Given the description of an element on the screen output the (x, y) to click on. 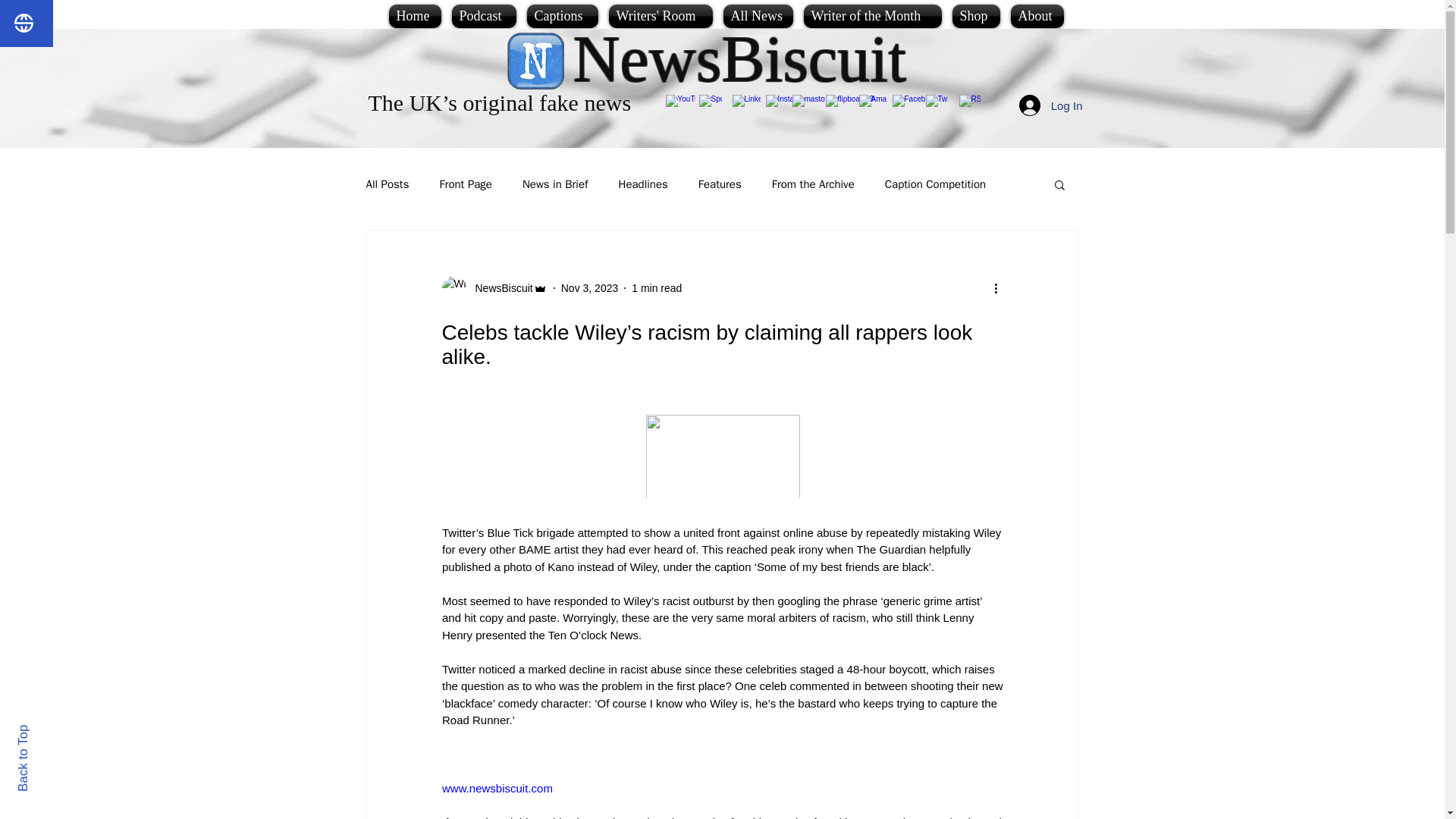
Shop (975, 15)
1 min read (656, 287)
All News (757, 15)
Front Page (465, 184)
News in Brief (555, 184)
Log In (1051, 105)
NewsBiscuit (740, 58)
Podcast (483, 15)
Nov 3, 2023 (589, 287)
Features (719, 184)
